Given the description of an element on the screen output the (x, y) to click on. 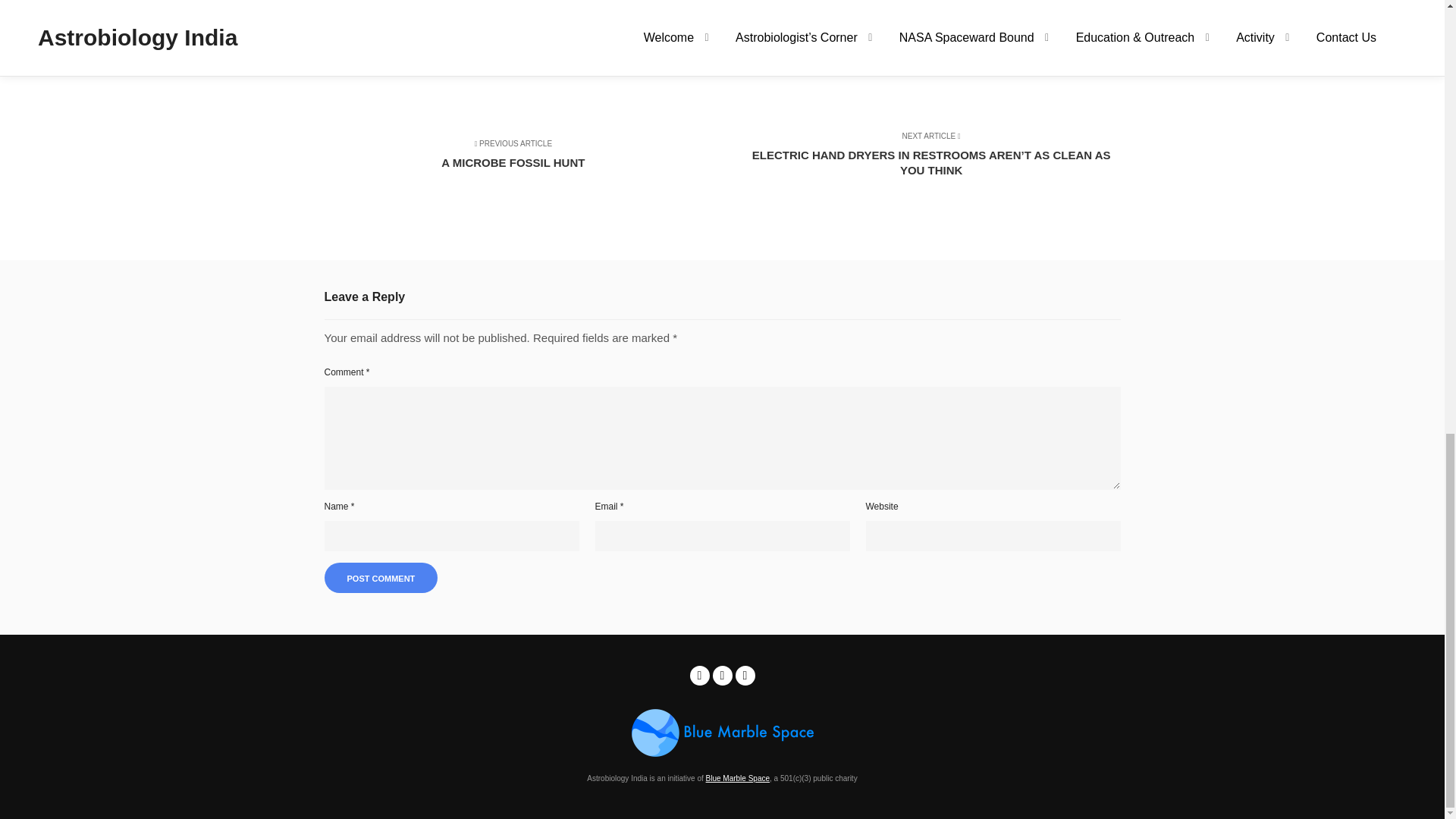
K-State Research and Extension (531, 60)
Twitter (722, 675)
Instagram (745, 675)
Facebook (700, 675)
Creative Commons v2.0 (738, 60)
Post Comment (523, 161)
